Given the description of an element on the screen output the (x, y) to click on. 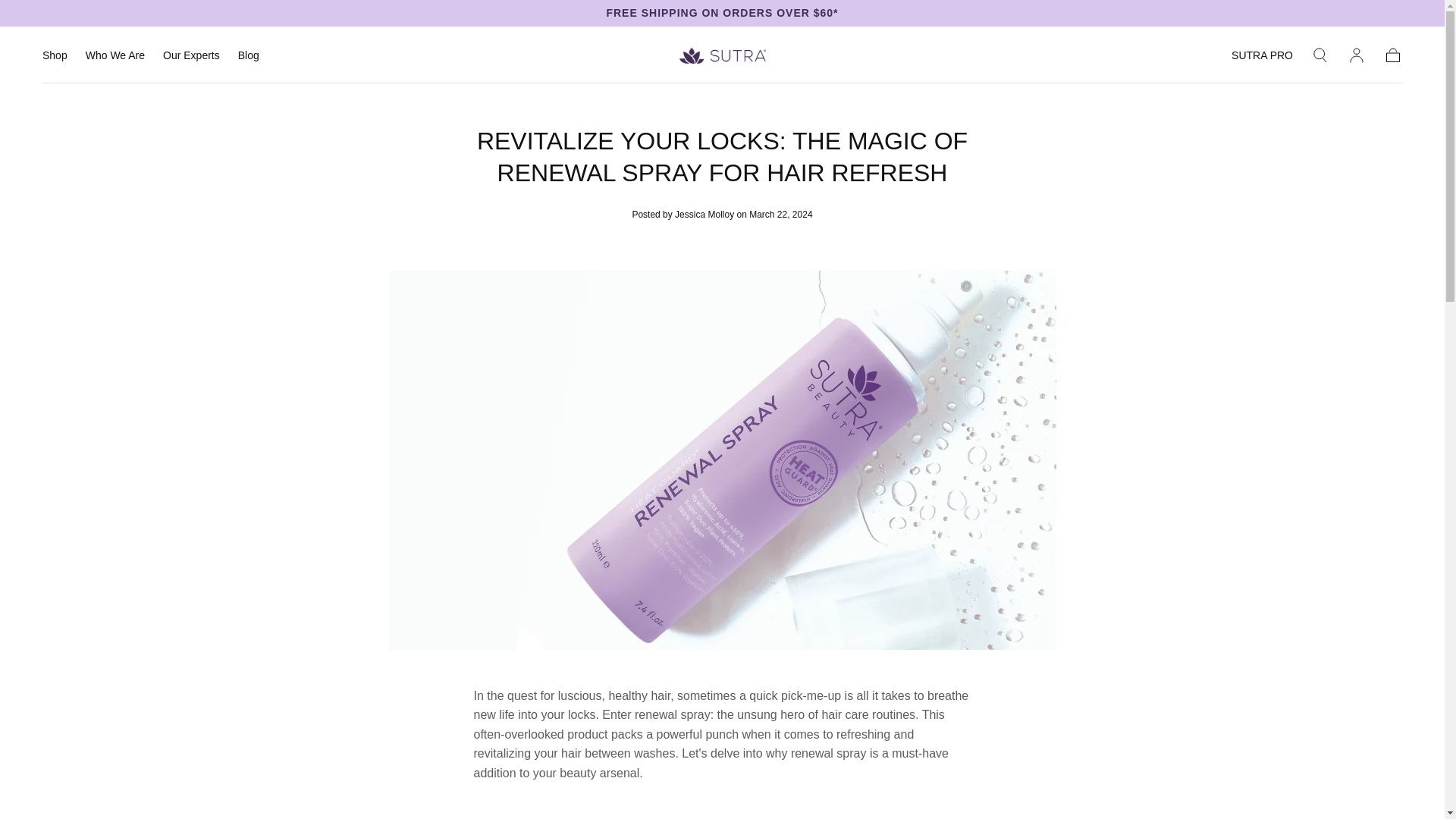
Skip to content (67, 18)
Sign in (1356, 54)
Shop (54, 57)
Cart (1393, 54)
Sutra Pro (1261, 57)
